Given the description of an element on the screen output the (x, y) to click on. 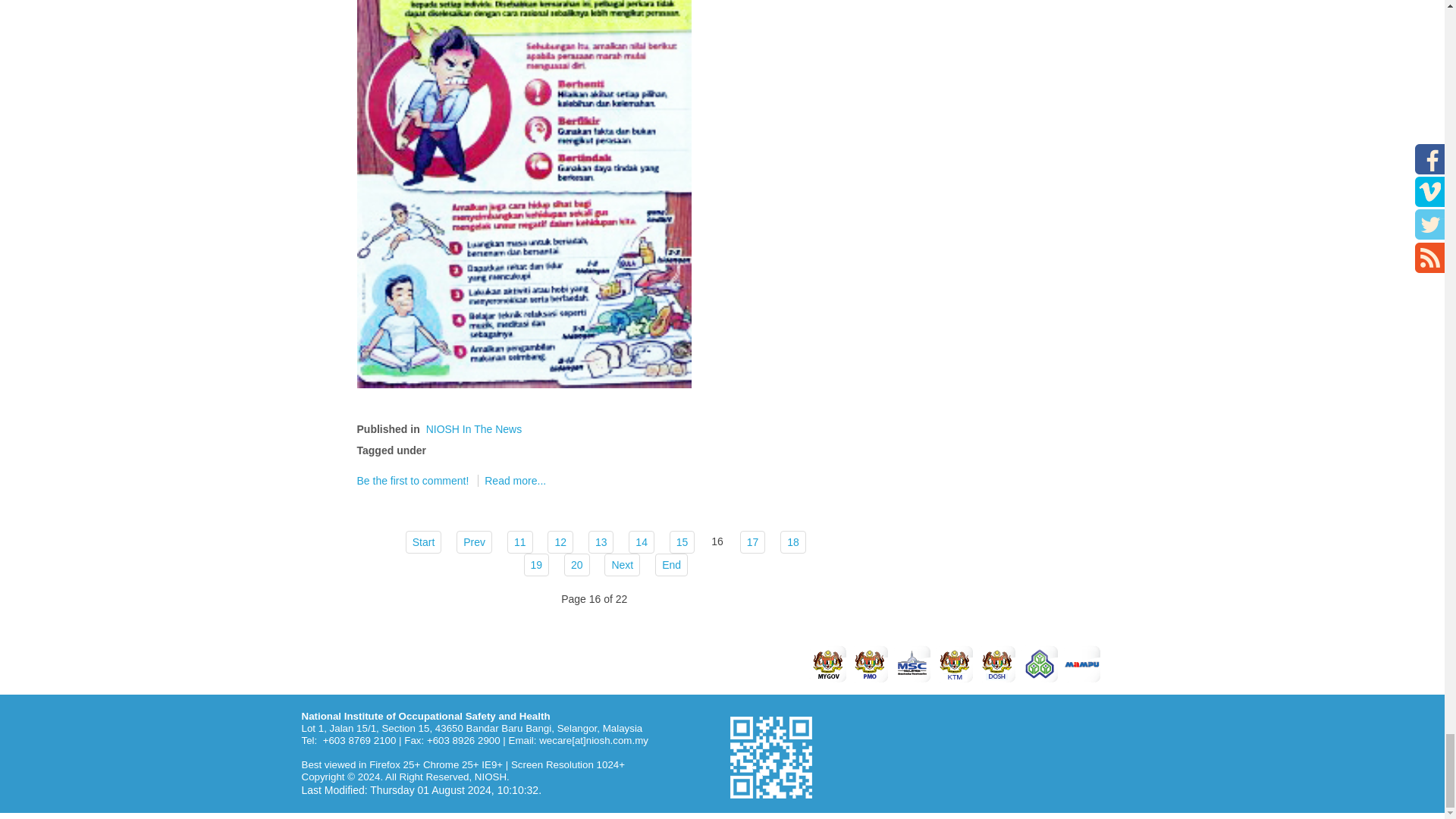
Security Policy (425, 662)
Prime Minister's Office (869, 663)
Privacy Policy (338, 662)
myGOVERNMENT (827, 663)
Site Map (661, 662)
Disclaimer (601, 662)
Copyright Notice (518, 662)
